Given the description of an element on the screen output the (x, y) to click on. 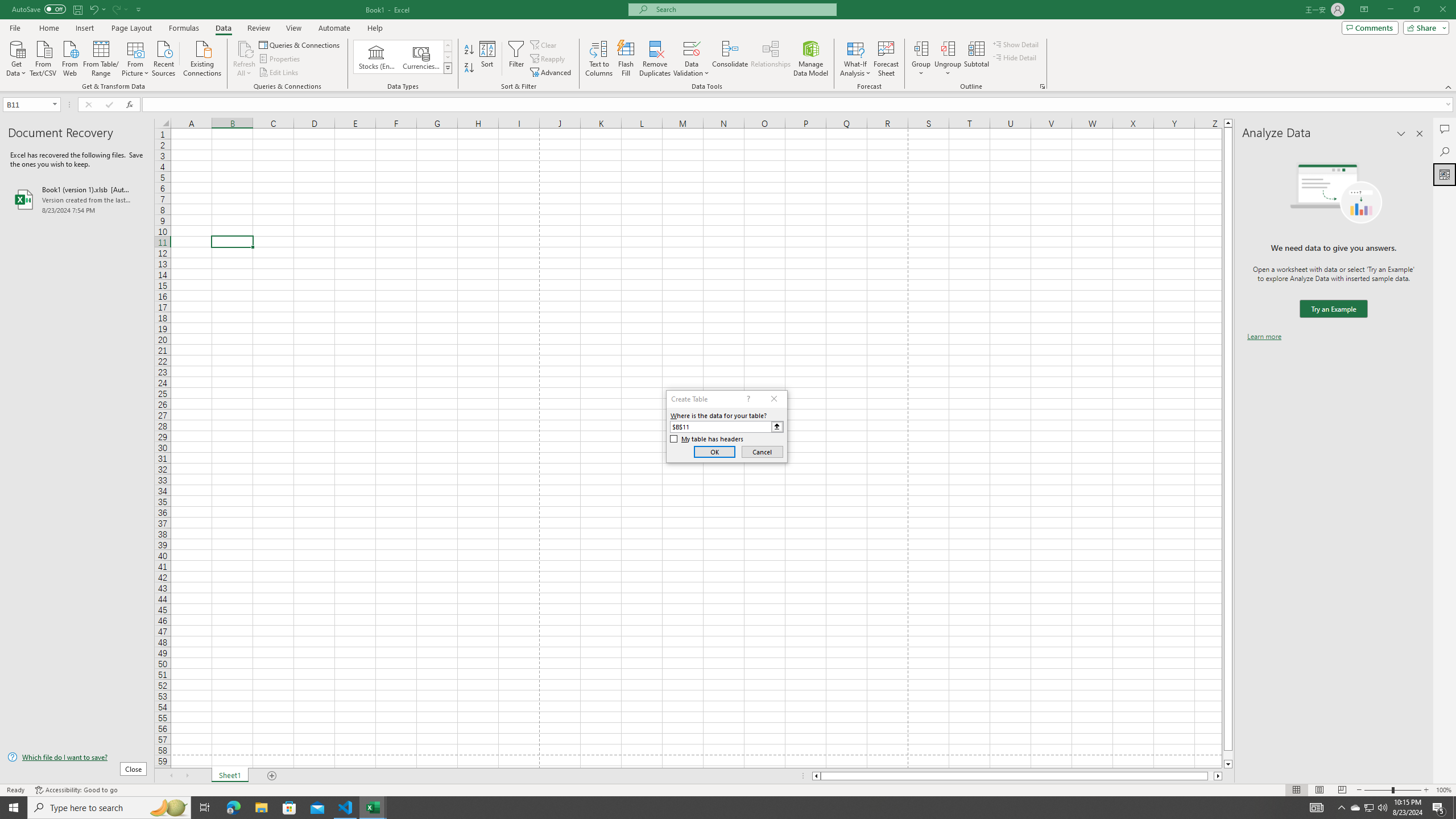
Microsoft search (742, 9)
Consolidate... (729, 58)
Data Types (448, 67)
Formula Bar (799, 104)
Home (48, 28)
Class: NetUIImage (447, 68)
Sort A to Z (469, 49)
Page Break Preview (1342, 790)
Save (77, 9)
Ungroup... (947, 58)
Task Pane Options (1400, 133)
Group... (921, 58)
Close (1442, 9)
Add Sheet (272, 775)
What-If Analysis (855, 58)
